Given the description of an element on the screen output the (x, y) to click on. 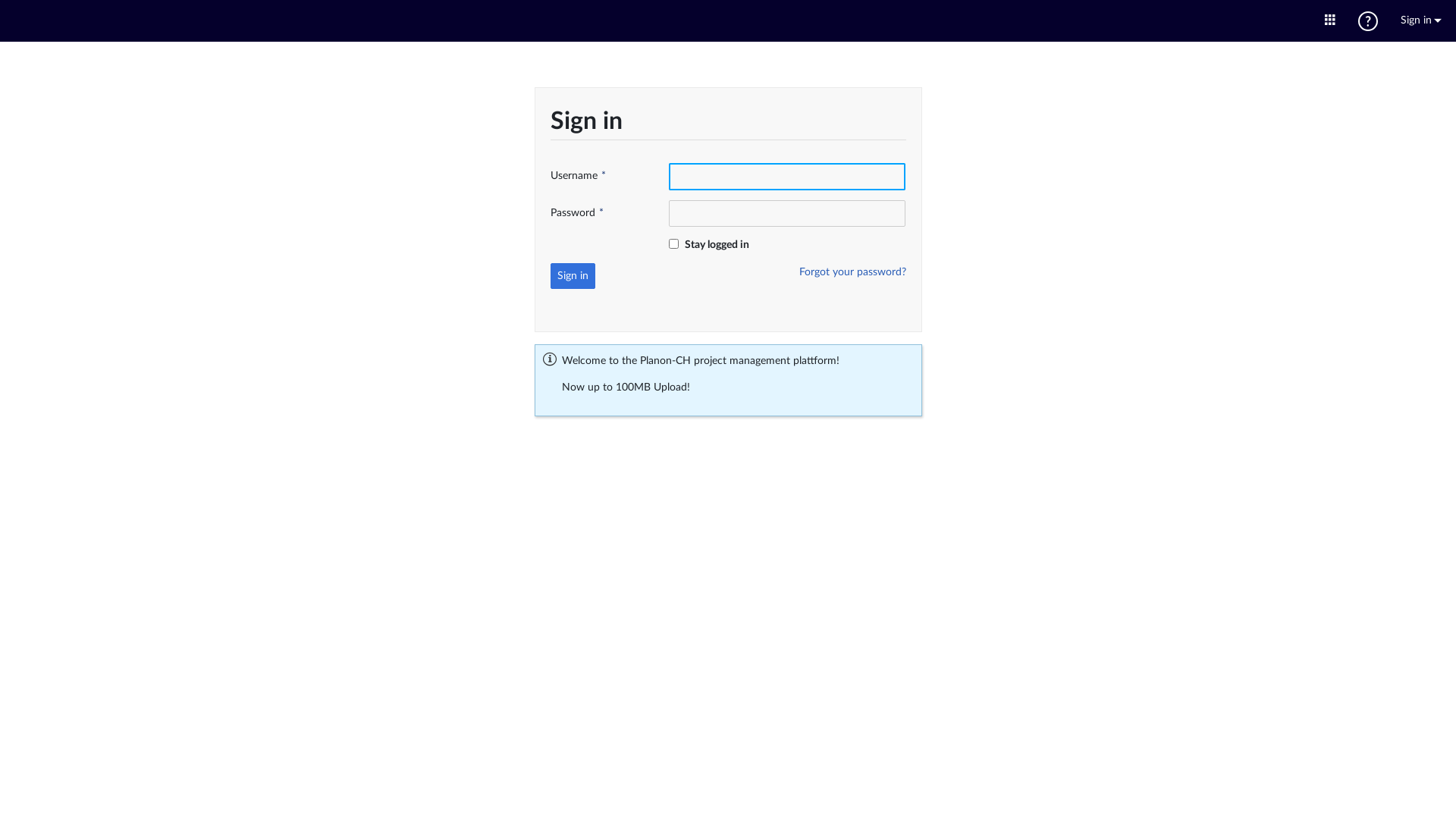
Modules Element type: hover (1329, 20)
Forgot your password? Element type: text (852, 271)
Help Element type: hover (1367, 20)
Sign in Element type: text (572, 275)
Home Element type: text (727, 20)
Sign in Element type: text (1420, 20)
